Given the description of an element on the screen output the (x, y) to click on. 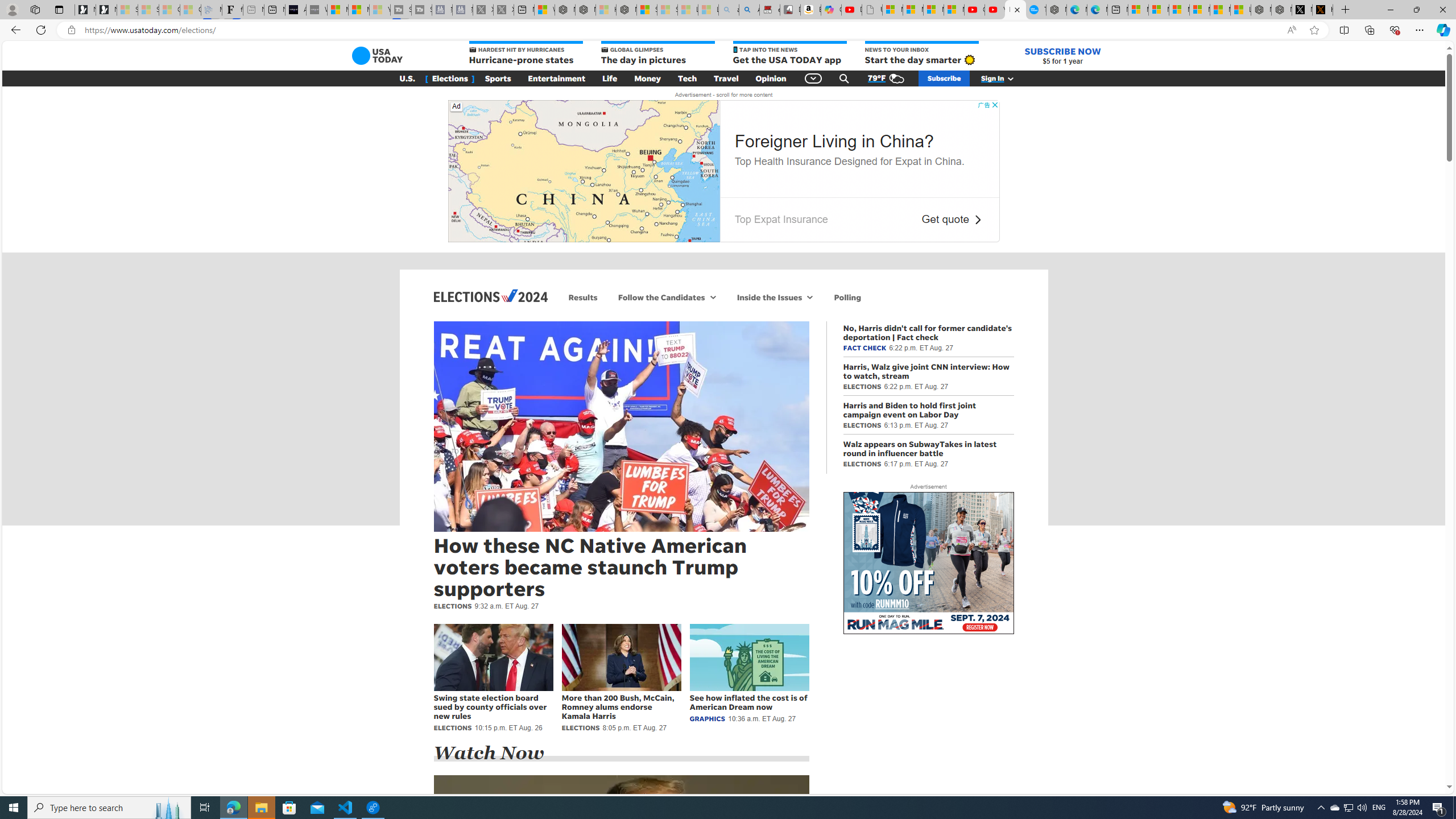
USA TODAY (376, 55)
[ Elections ] (449, 78)
Nordace - Nordace Siena Is Not An Ordinary Backpack (626, 9)
Tech (687, 78)
Get quote (945, 219)
Sign In (1002, 78)
Sports (497, 78)
Foreigner Living in China? (833, 140)
Money (647, 78)
Inside the Issues (768, 296)
